Given the description of an element on the screen output the (x, y) to click on. 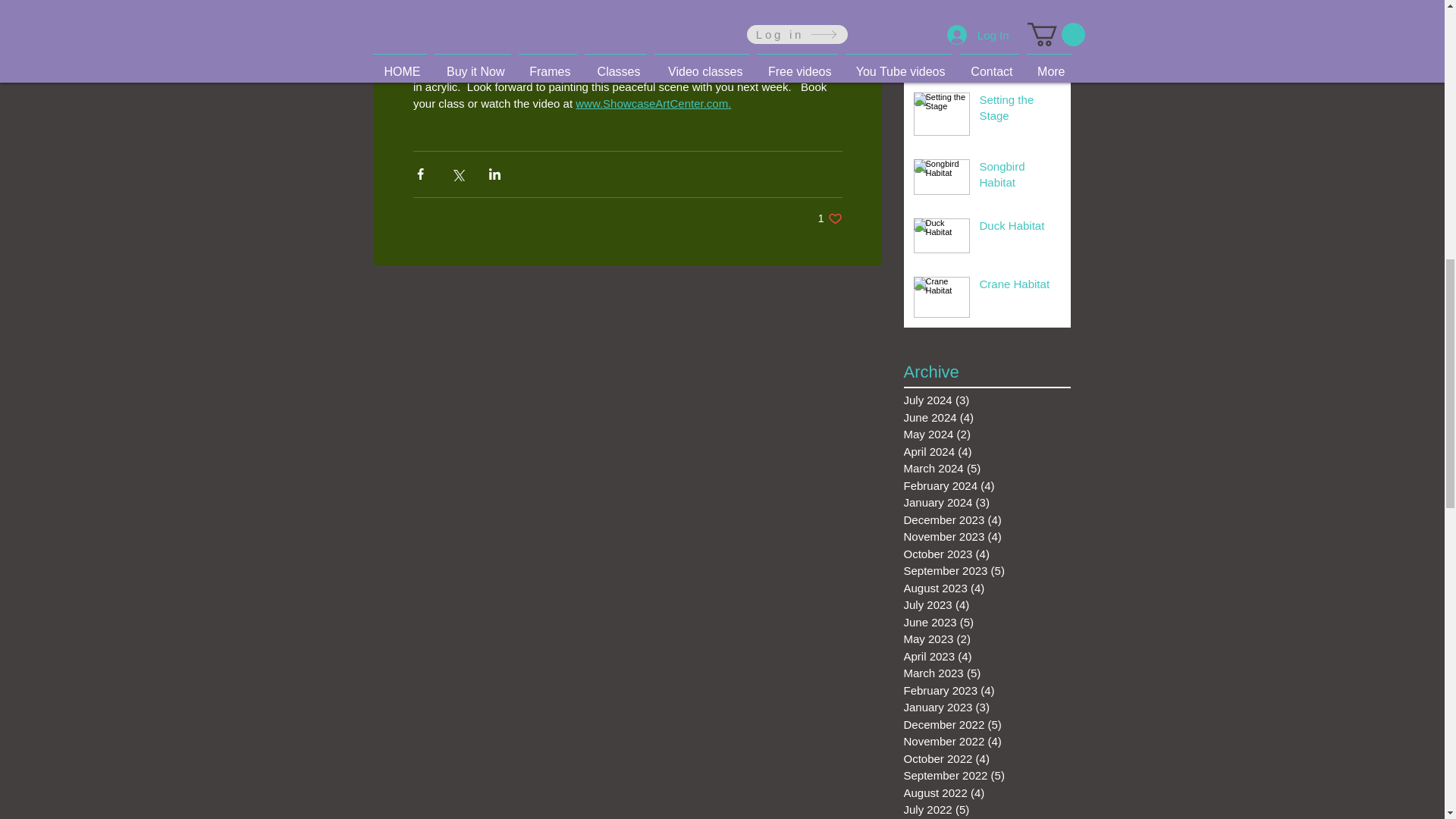
www.ShowcaseArtCenter.com. (652, 103)
Spiderweb (1020, 7)
Songbird Habitat (1020, 177)
Duck Habitat (1020, 228)
Crane Habitat (830, 218)
Setting the Stage (1020, 287)
